Given the description of an element on the screen output the (x, y) to click on. 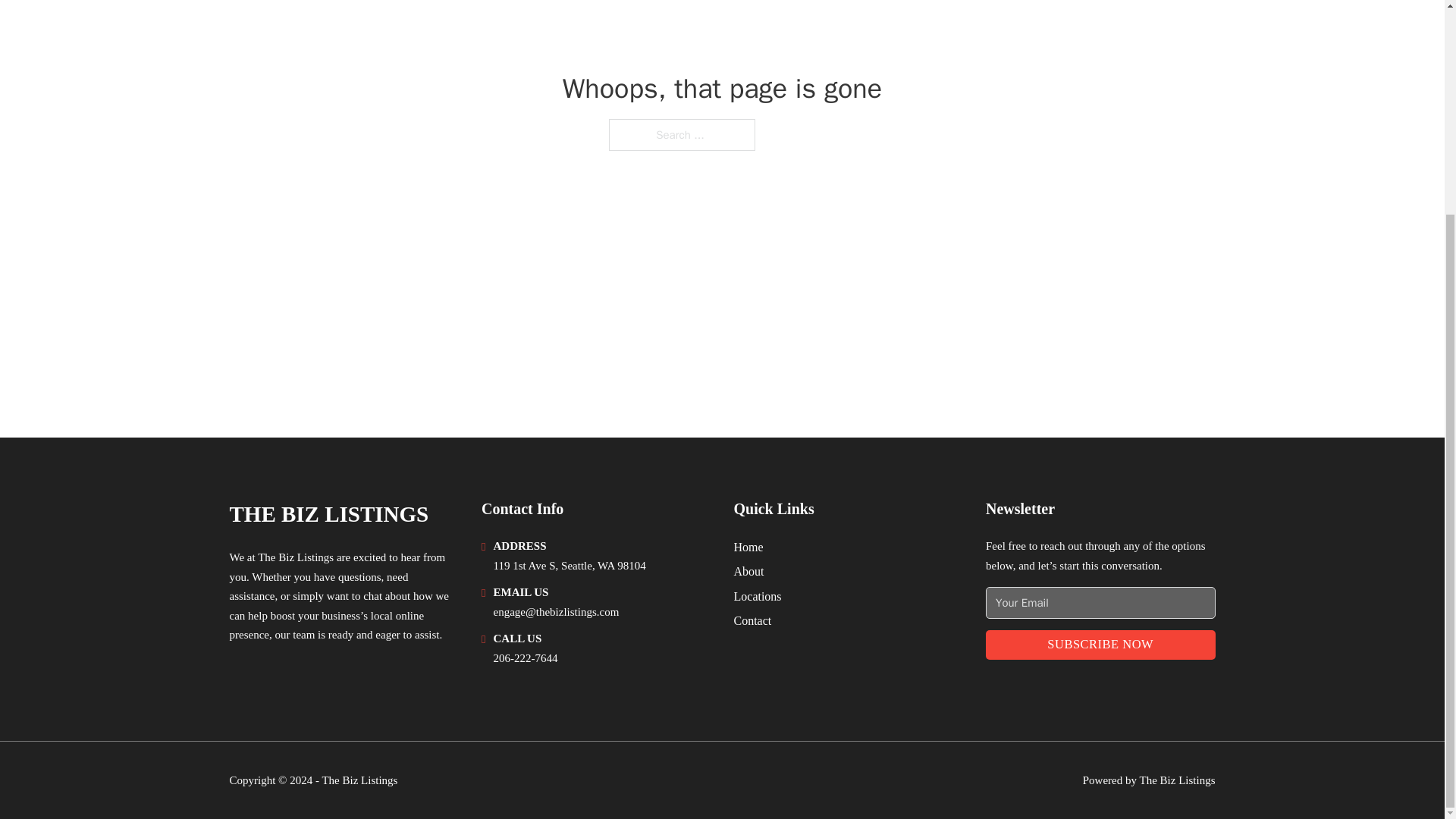
THE BIZ LISTINGS (328, 514)
Contact (752, 620)
Locations (757, 596)
About (748, 571)
206-222-7644 (525, 657)
Home (747, 547)
SUBSCRIBE NOW (1100, 644)
